Given the description of an element on the screen output the (x, y) to click on. 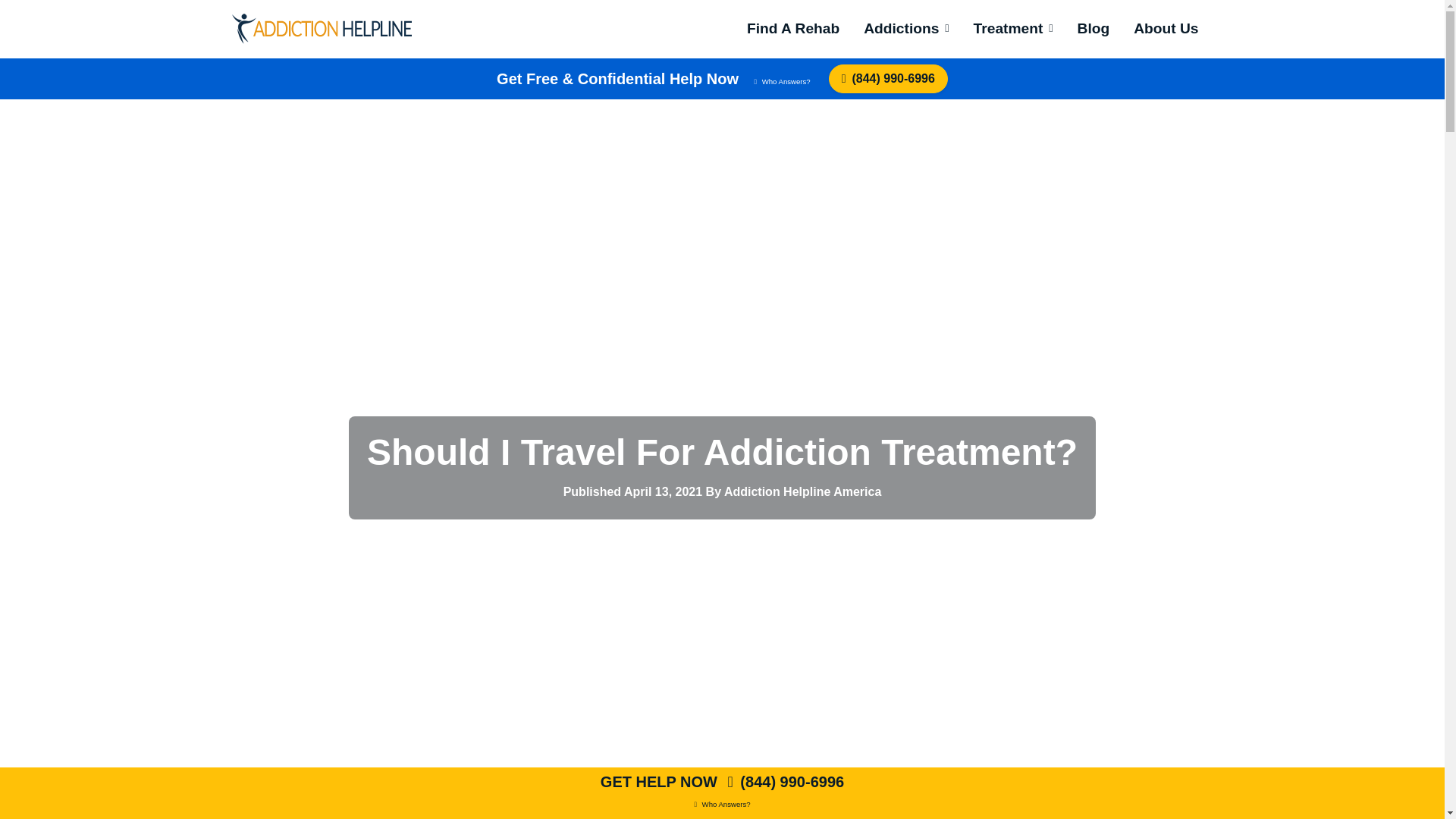
Find A Rehab (793, 29)
Addictions (906, 29)
Treatment (1013, 29)
Blog (1093, 29)
About Us (1165, 29)
